Given the description of an element on the screen output the (x, y) to click on. 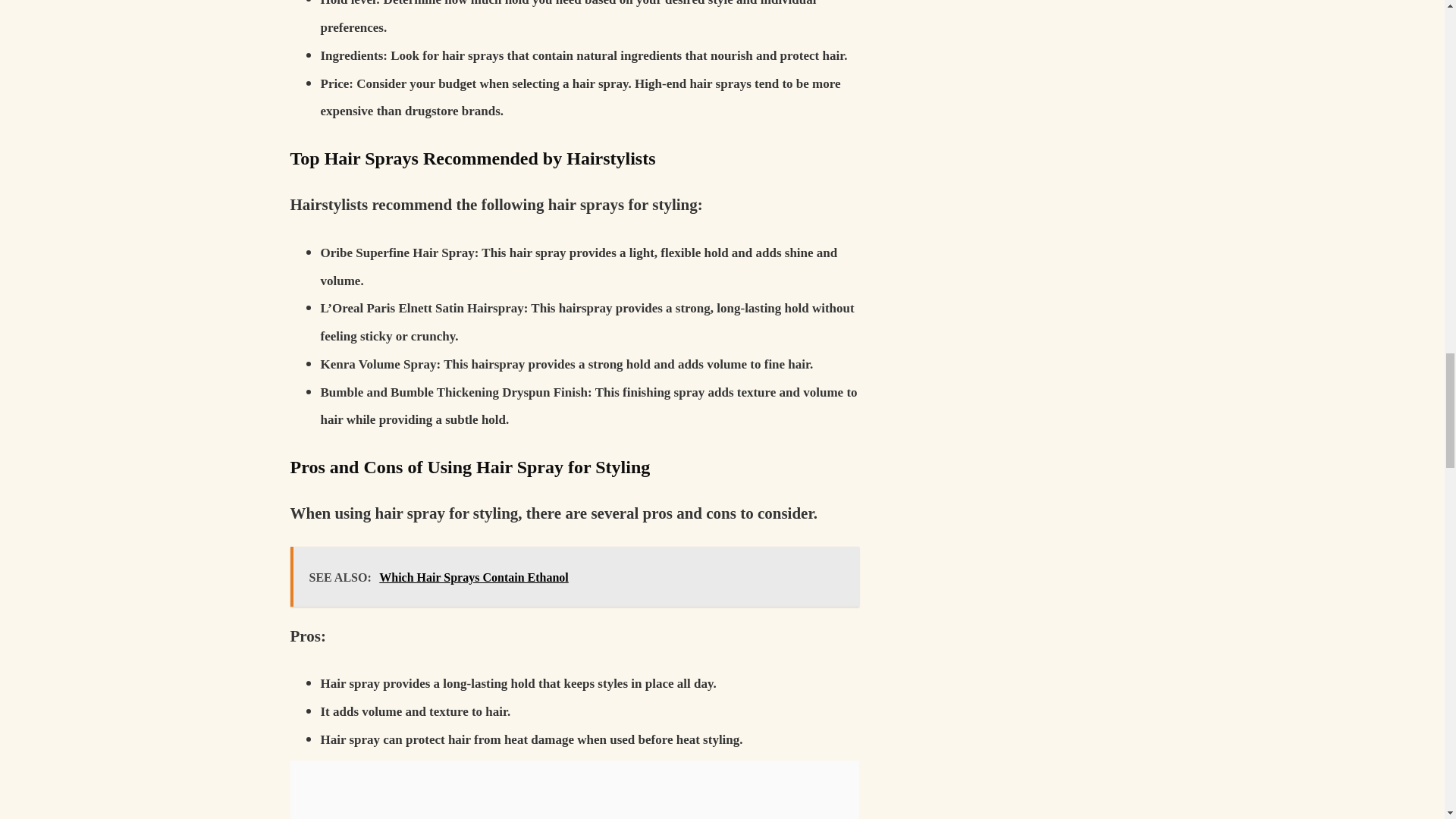
SEE ALSO:  Which Hair Sprays Contain Ethanol (574, 576)
